Given the description of an element on the screen output the (x, y) to click on. 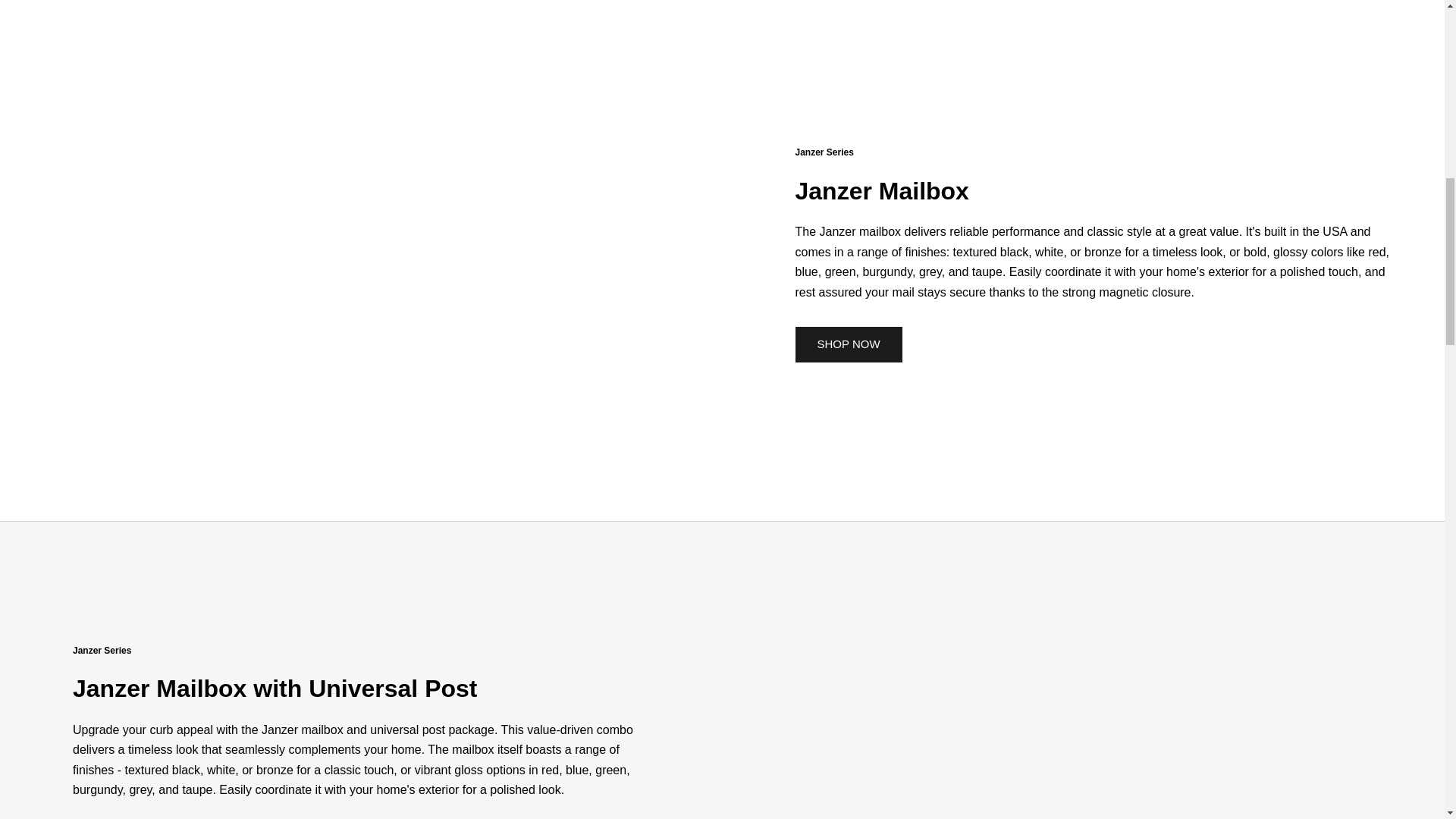
SHOP NOW (847, 344)
